Given the description of an element on the screen output the (x, y) to click on. 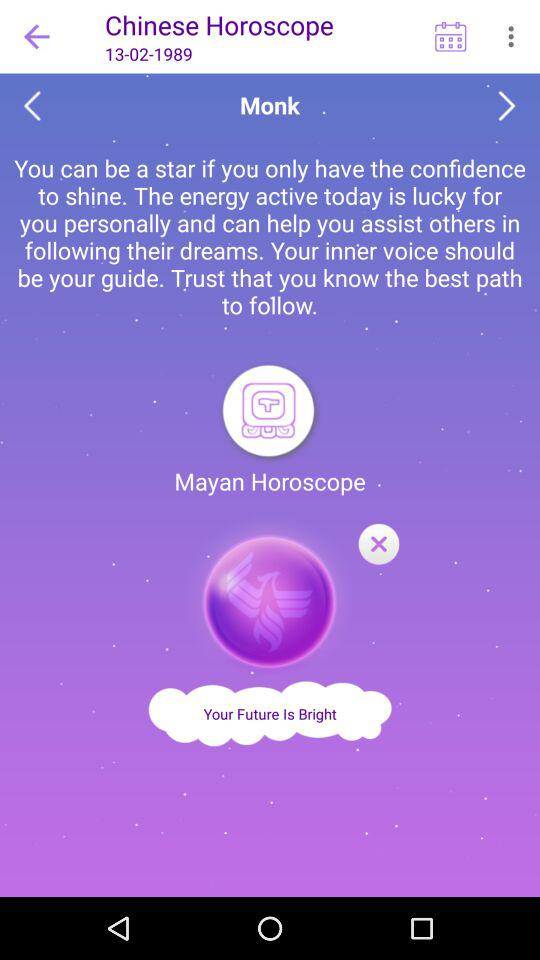
close option (269, 595)
